Given the description of an element on the screen output the (x, y) to click on. 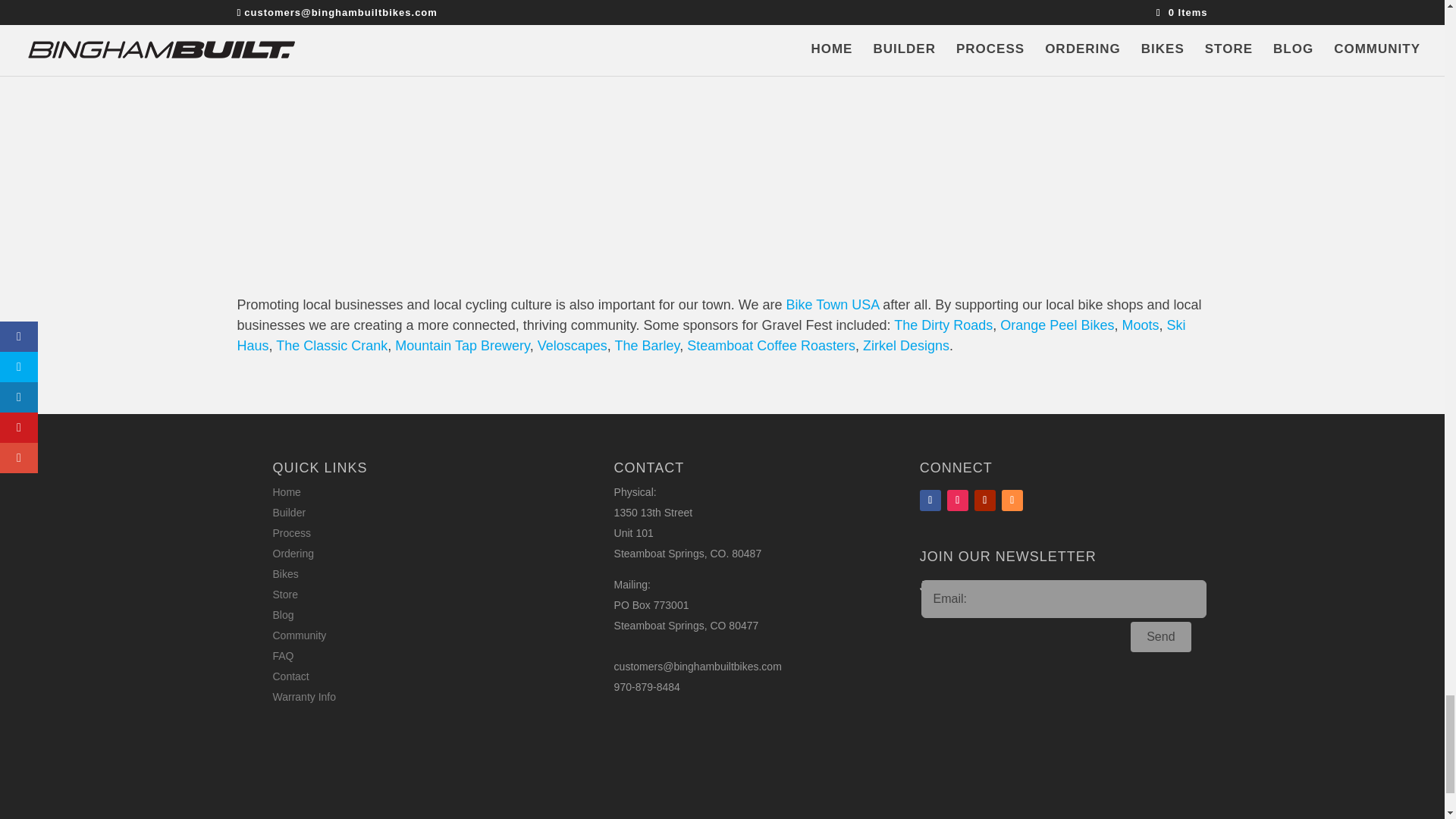
Veloscapes (572, 345)
Mountain Tap Brewery (461, 345)
Steamboat Coffee Roasters (771, 345)
The Dirty Roads (942, 324)
Ordering (293, 553)
Zirkel Designs (906, 345)
Bike Town USA (832, 304)
Orange Peel Bikes (1056, 324)
Follow on Instagram (957, 500)
Moots (1139, 324)
